Given the description of an element on the screen output the (x, y) to click on. 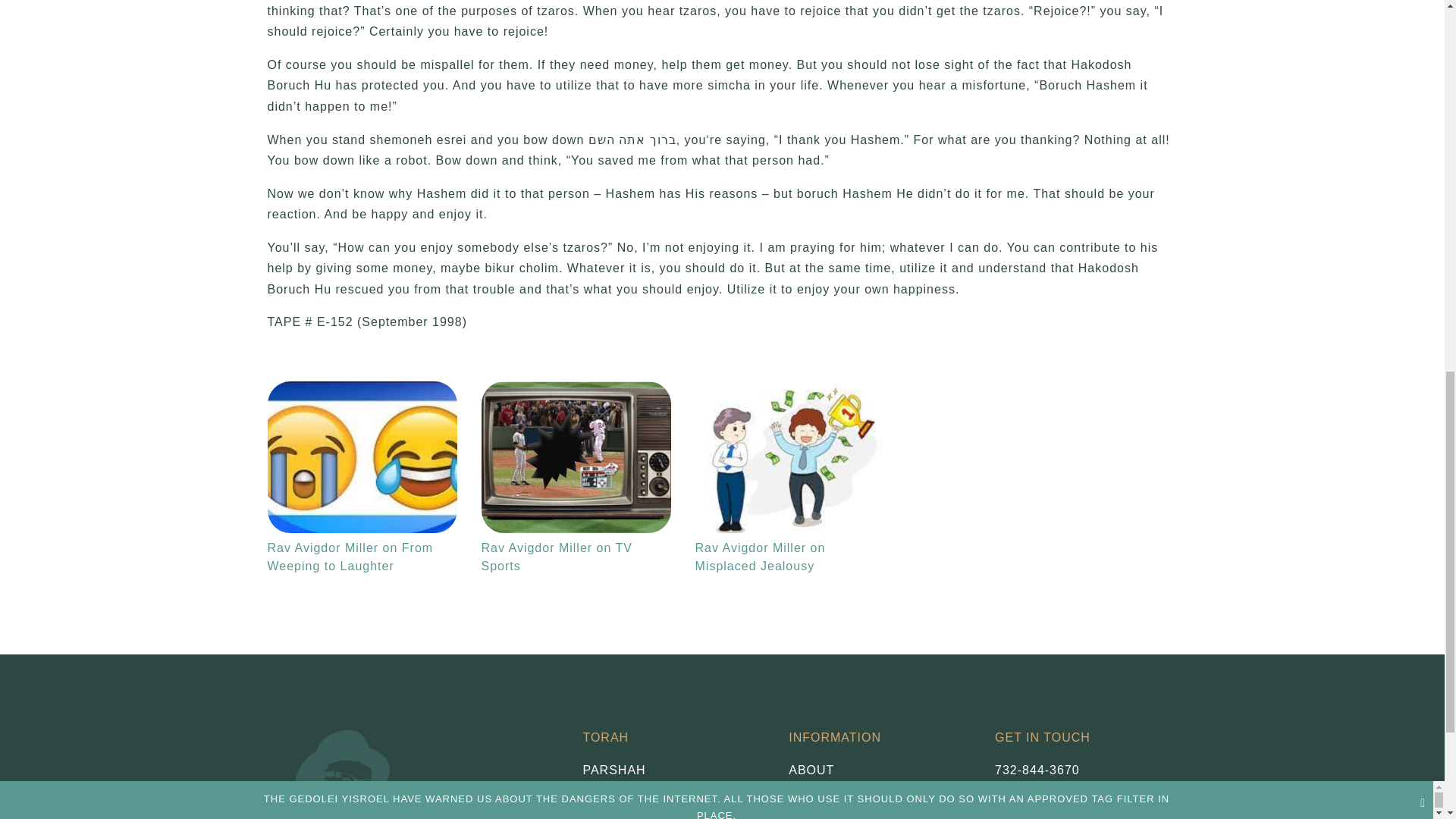
PARSHAH (673, 770)
Rav Avigdor Miller on TV Sports (574, 457)
732-844-3670 (1037, 769)
ABOUT (880, 770)
Rav Avigdor Miller on From Weeping to Laughter (361, 457)
SUBSCRIPTIONS (880, 803)
footer-img (344, 766)
Rav Avigdor Miller on Misplaced Jealousy (788, 457)
